Given the description of an element on the screen output the (x, y) to click on. 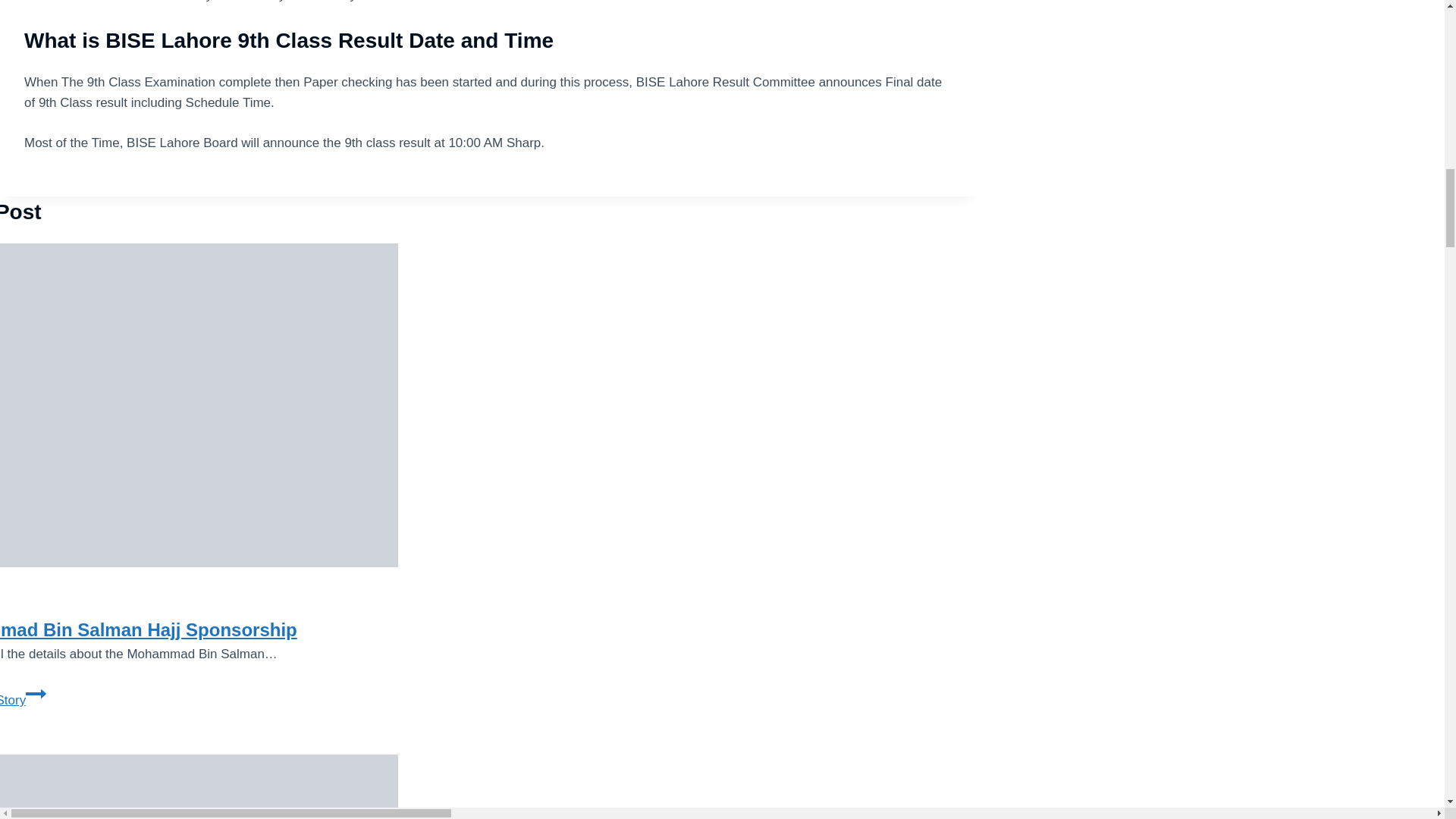
Continue (36, 693)
Punjab Police Result For Constable 4 (198, 786)
Mohammad Bin Salman Hajj Sponsorship 3 (198, 405)
Mohammad Bin Salman Hajj Sponsorship (148, 629)
